Given the description of an element on the screen output the (x, y) to click on. 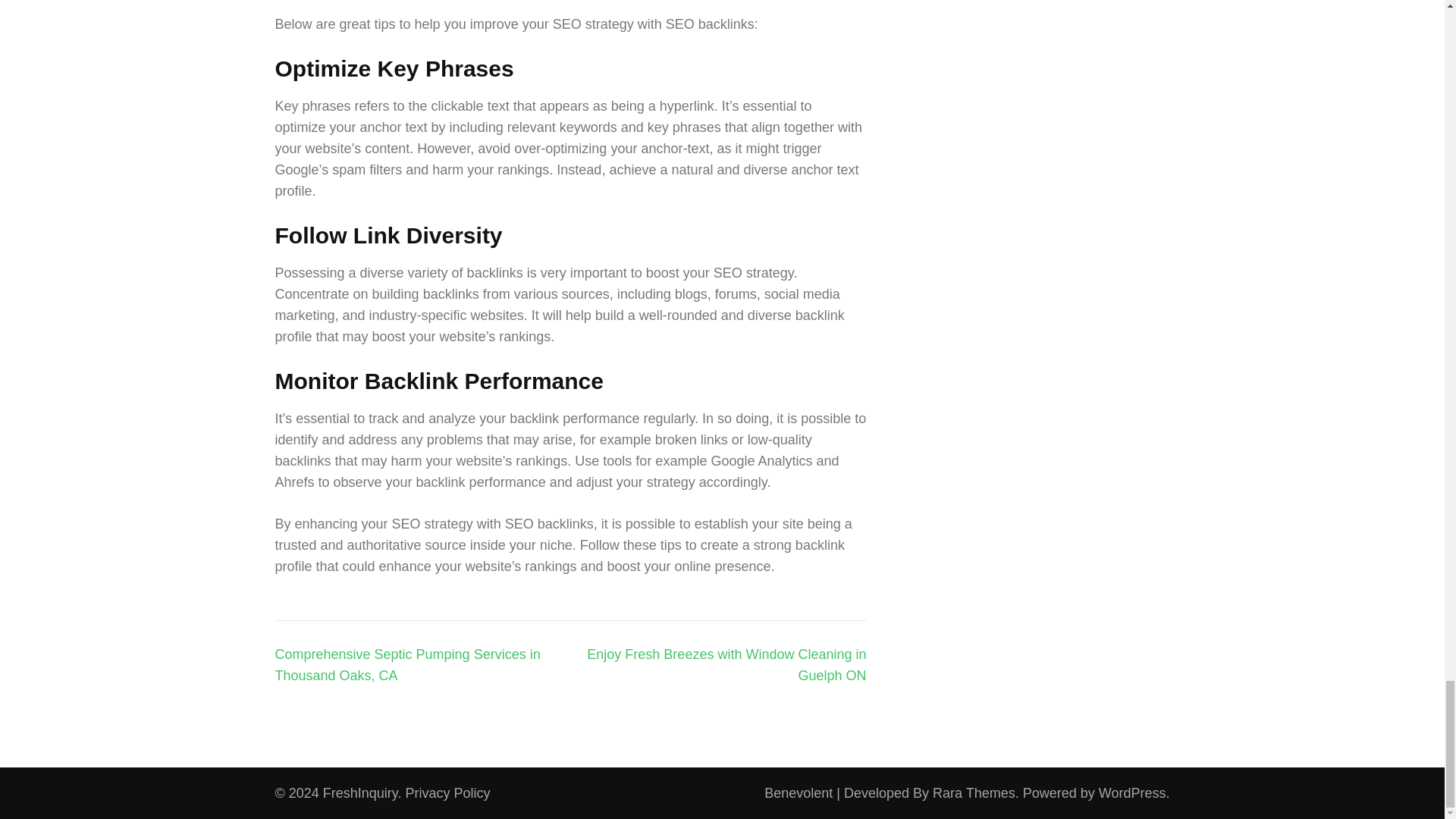
Enjoy Fresh Breezes with Window Cleaning in Guelph ON (726, 665)
Comprehensive Septic Pumping Services in Thousand Oaks, CA (407, 665)
